Given the description of an element on the screen output the (x, y) to click on. 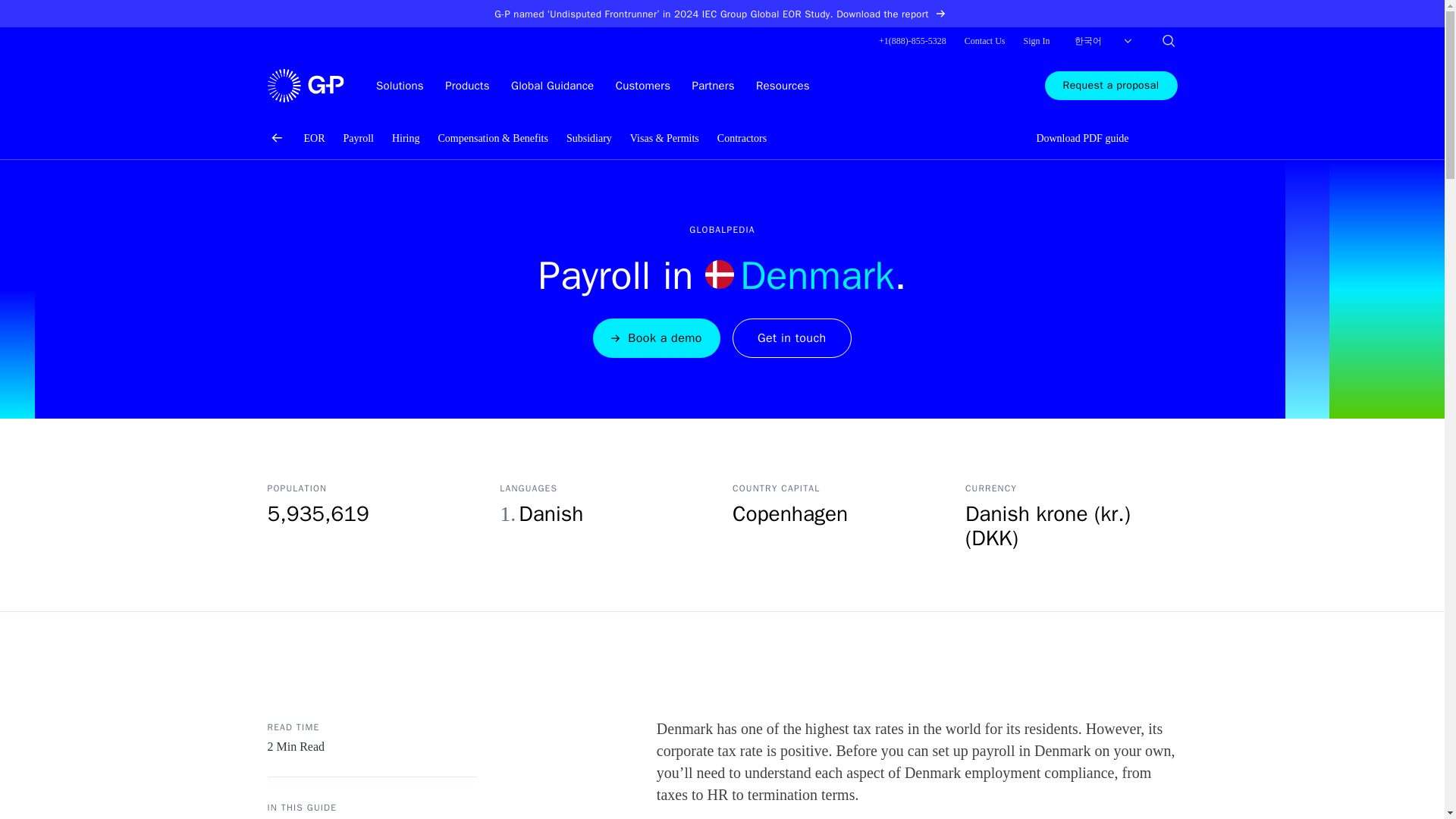
Resources (782, 85)
Solutions (399, 85)
EOR (313, 138)
Global Guidance (552, 85)
Payroll (357, 138)
Hiring (405, 138)
Sign In (1036, 40)
Partners (714, 85)
Request a proposal (1111, 85)
Contractors (742, 138)
Customers (642, 85)
Get in touch (791, 337)
Book a demo (656, 337)
Download PDF guide (1072, 138)
Products (467, 85)
